Given the description of an element on the screen output the (x, y) to click on. 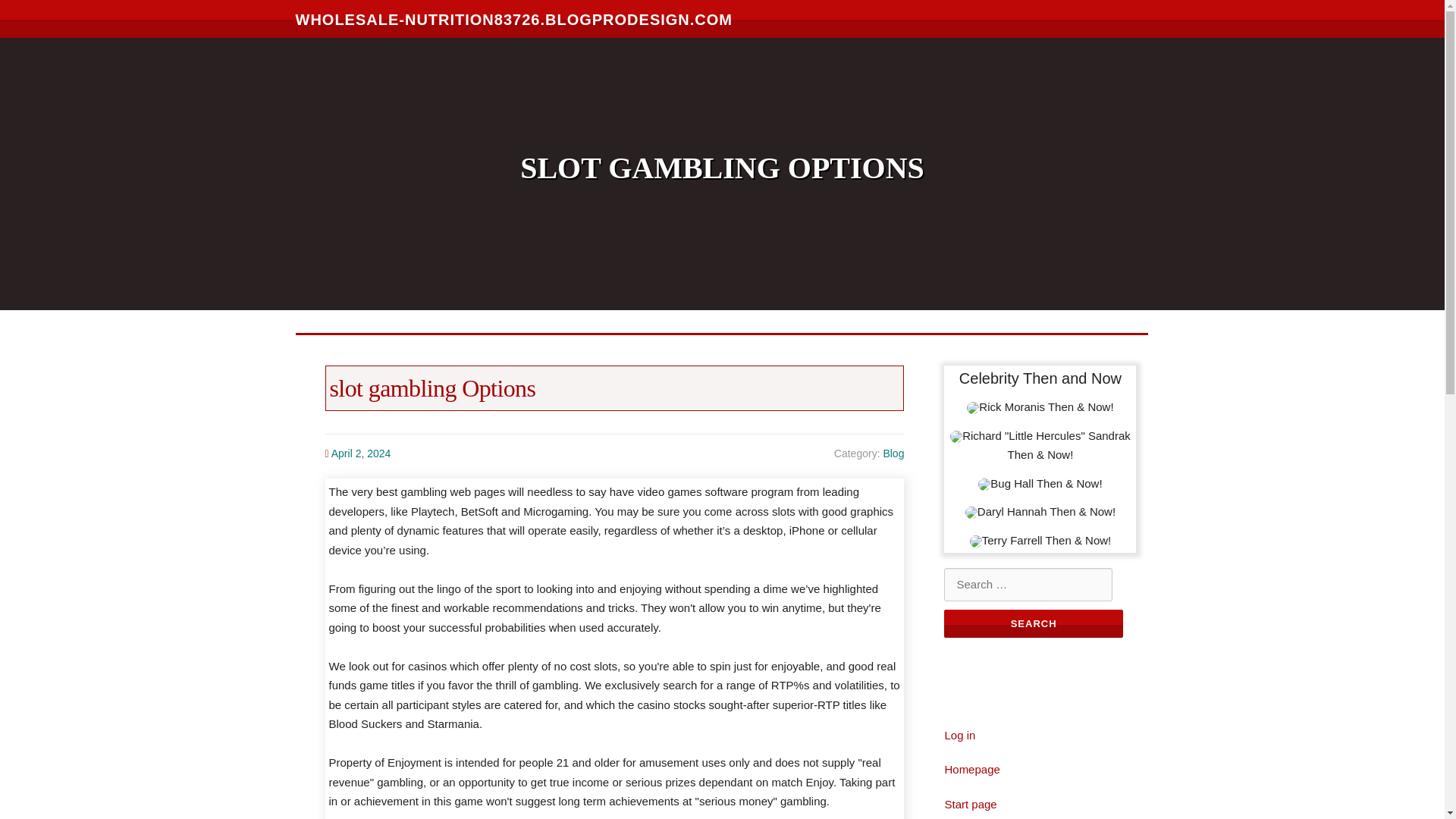
Start page (969, 803)
Homepage (970, 768)
Search (1032, 623)
WHOLESALE-NUTRITION83726.BLOGPRODESIGN.COM (514, 18)
Blog (893, 453)
Search (1032, 623)
Log in (959, 735)
Skip to content (37, 9)
Search (1032, 623)
April 2, 2024 (361, 453)
